Given the description of an element on the screen output the (x, y) to click on. 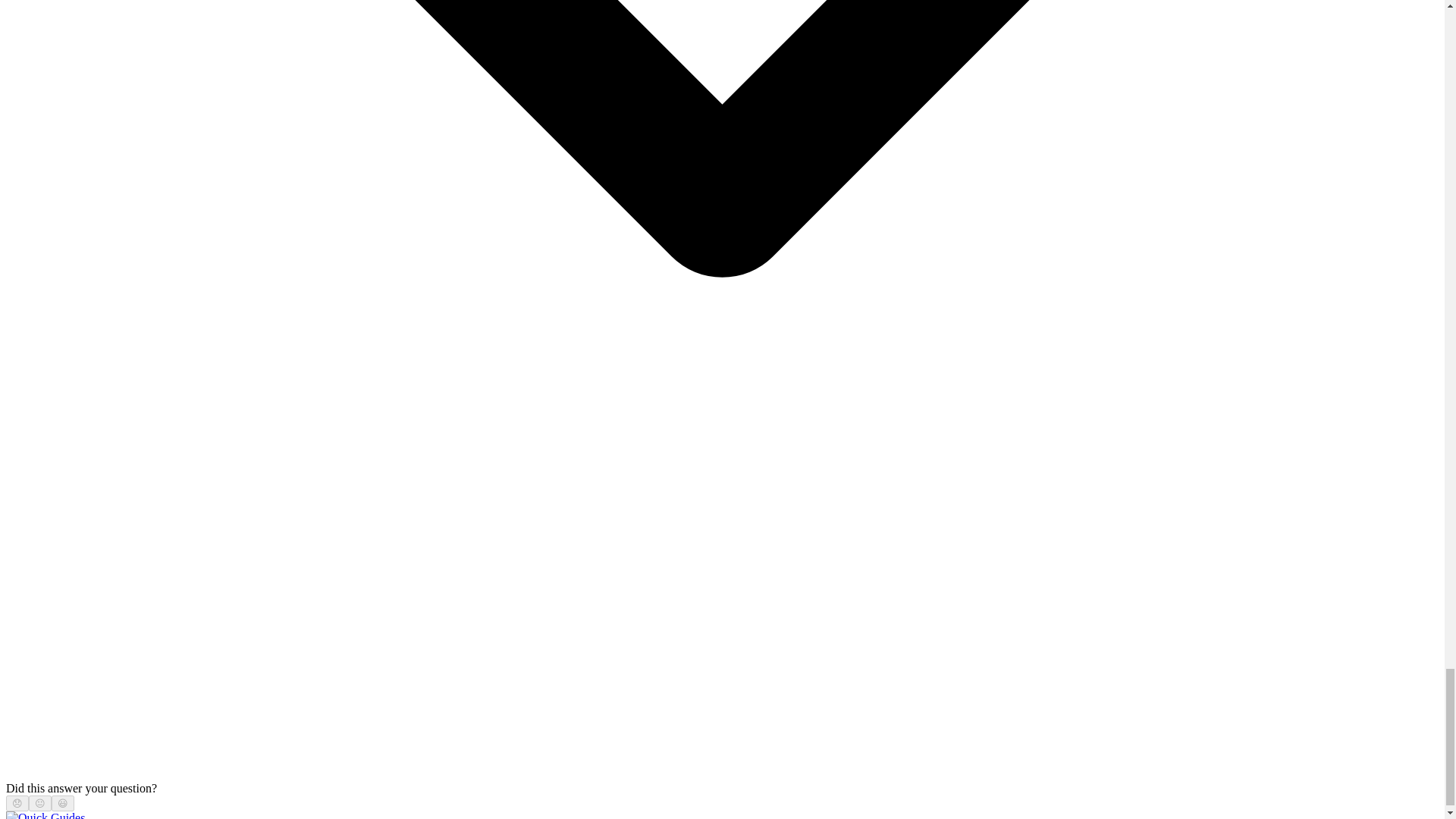
Smiley (63, 803)
Neutral (39, 803)
Disappointed (17, 803)
